Given the description of an element on the screen output the (x, y) to click on. 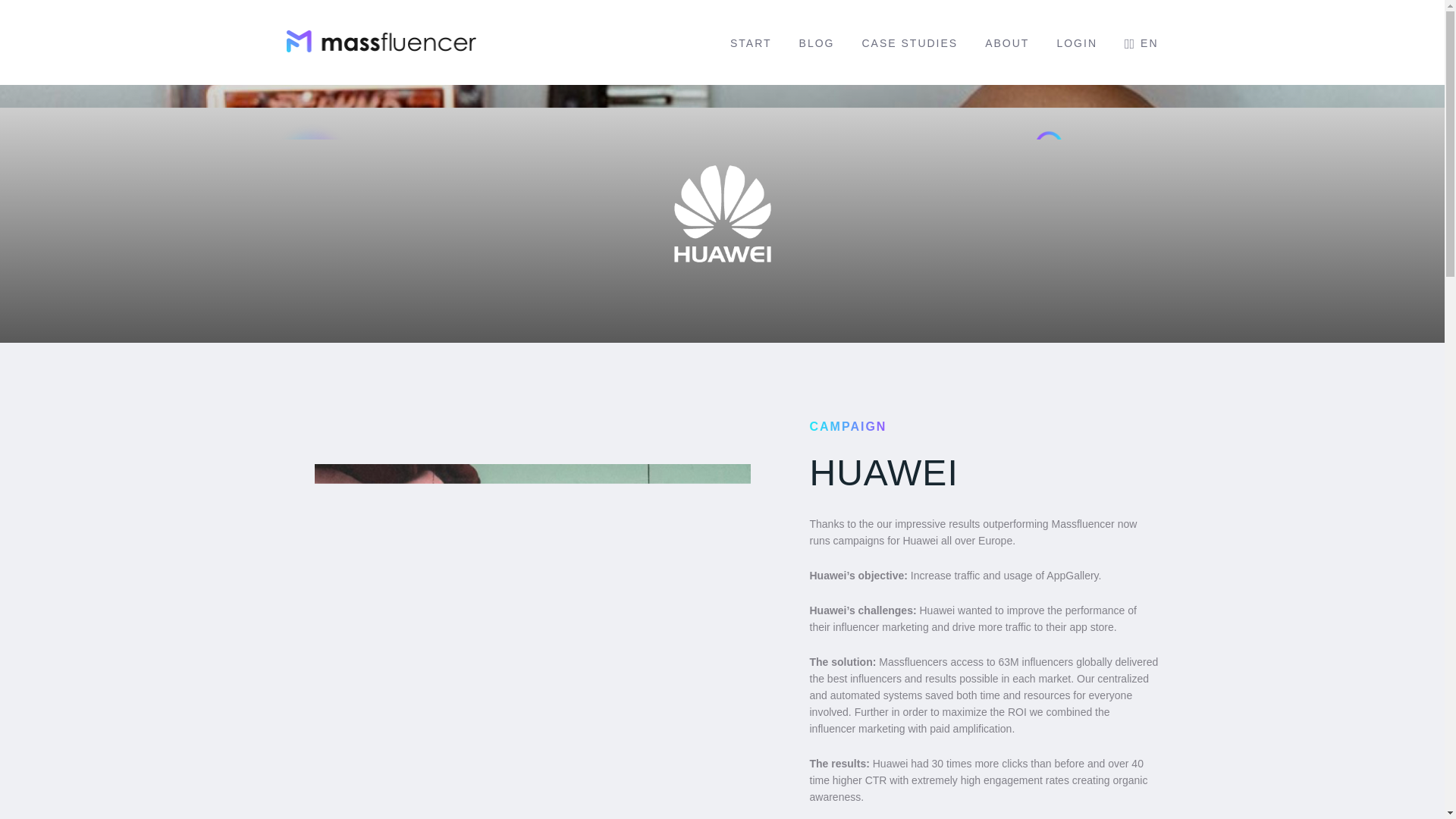
BLOG (816, 42)
LOGIN (1077, 42)
START (750, 42)
ABOUT (1007, 42)
CASE STUDIES (909, 42)
